Given the description of an element on the screen output the (x, y) to click on. 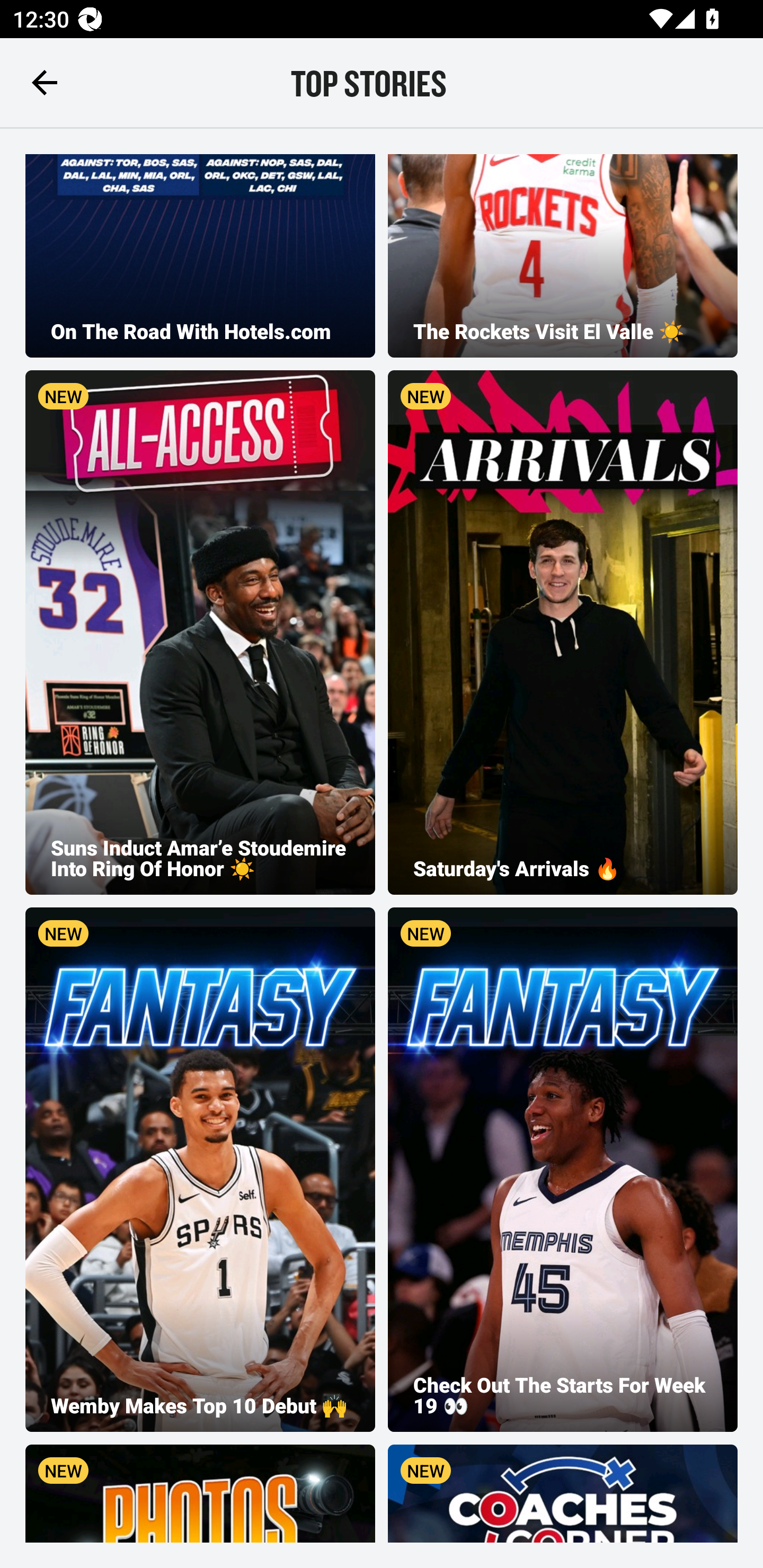
Navigate up (44, 82)
On The Road With Hotels.com (200, 255)
The Rockets Visit El Valle ☀ (562, 255)
NEW Saturday's Arrivals 🔥 (562, 632)
NEW Wemby Makes Top 10 Debut 🙌 (200, 1169)
NEW Check Out The Starts For Week 19 👀 (562, 1169)
